Given the description of an element on the screen output the (x, y) to click on. 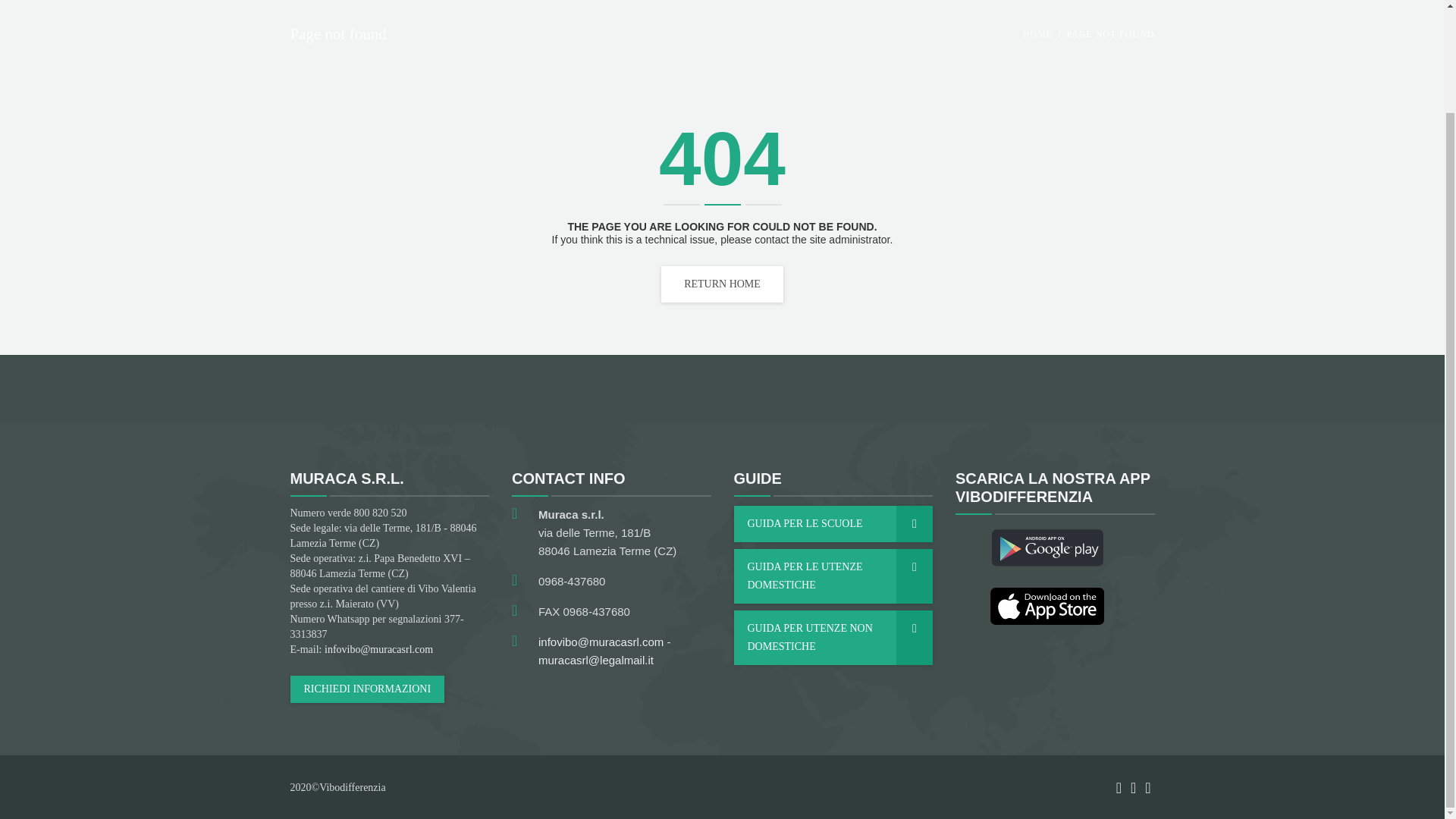
GUIDA PER LE SCUOLE (833, 524)
GUIDA PER UTENZE NON DOMESTICHE (833, 637)
GUIDA PER LE UTENZE DOMESTICHE (833, 575)
RETURN HOME (722, 284)
RICHIEDI INFORMAZIONI (366, 688)
